Given the description of an element on the screen output the (x, y) to click on. 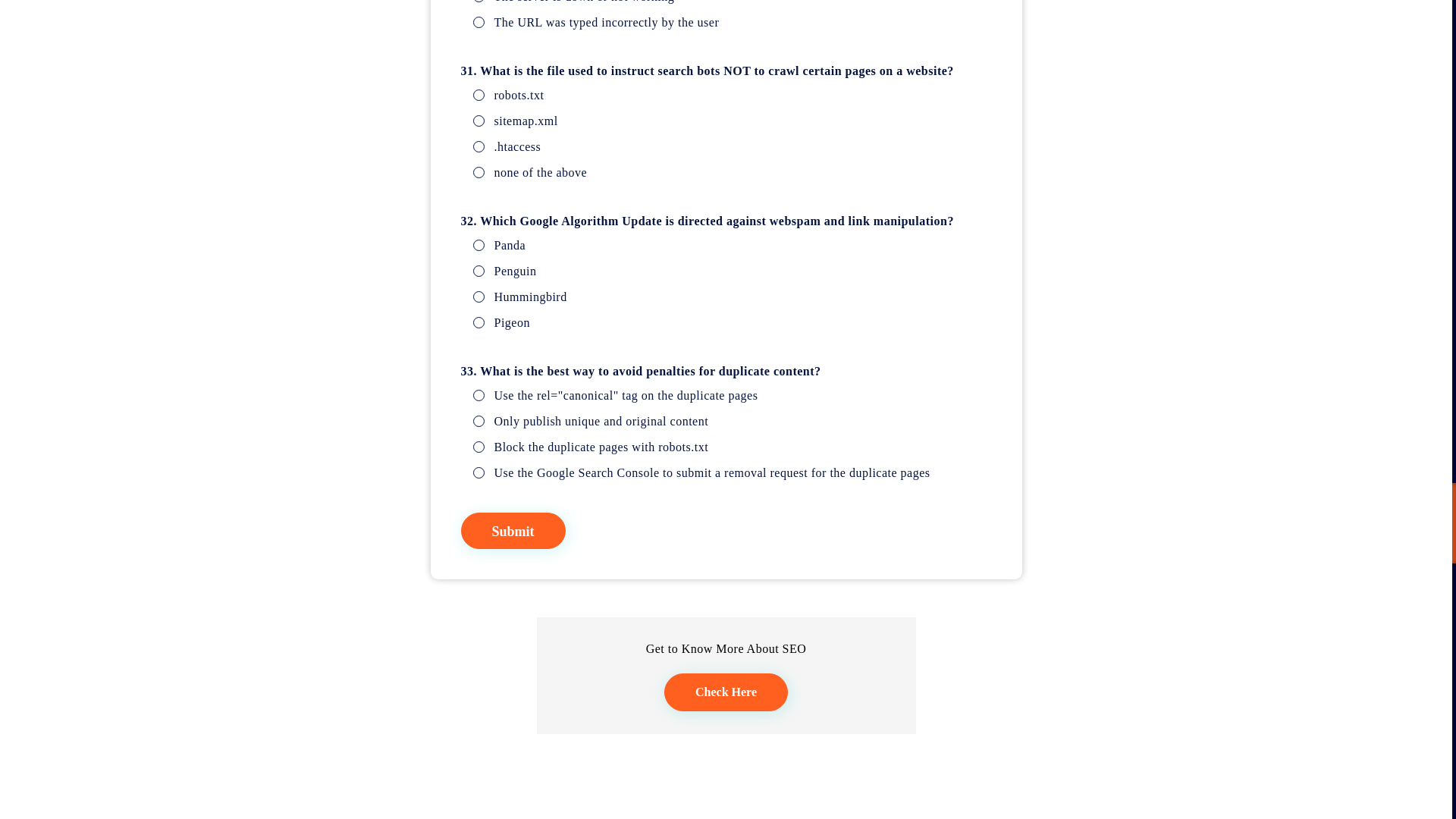
Submit (513, 530)
Submit (513, 530)
Check Here (725, 692)
